Given the description of an element on the screen output the (x, y) to click on. 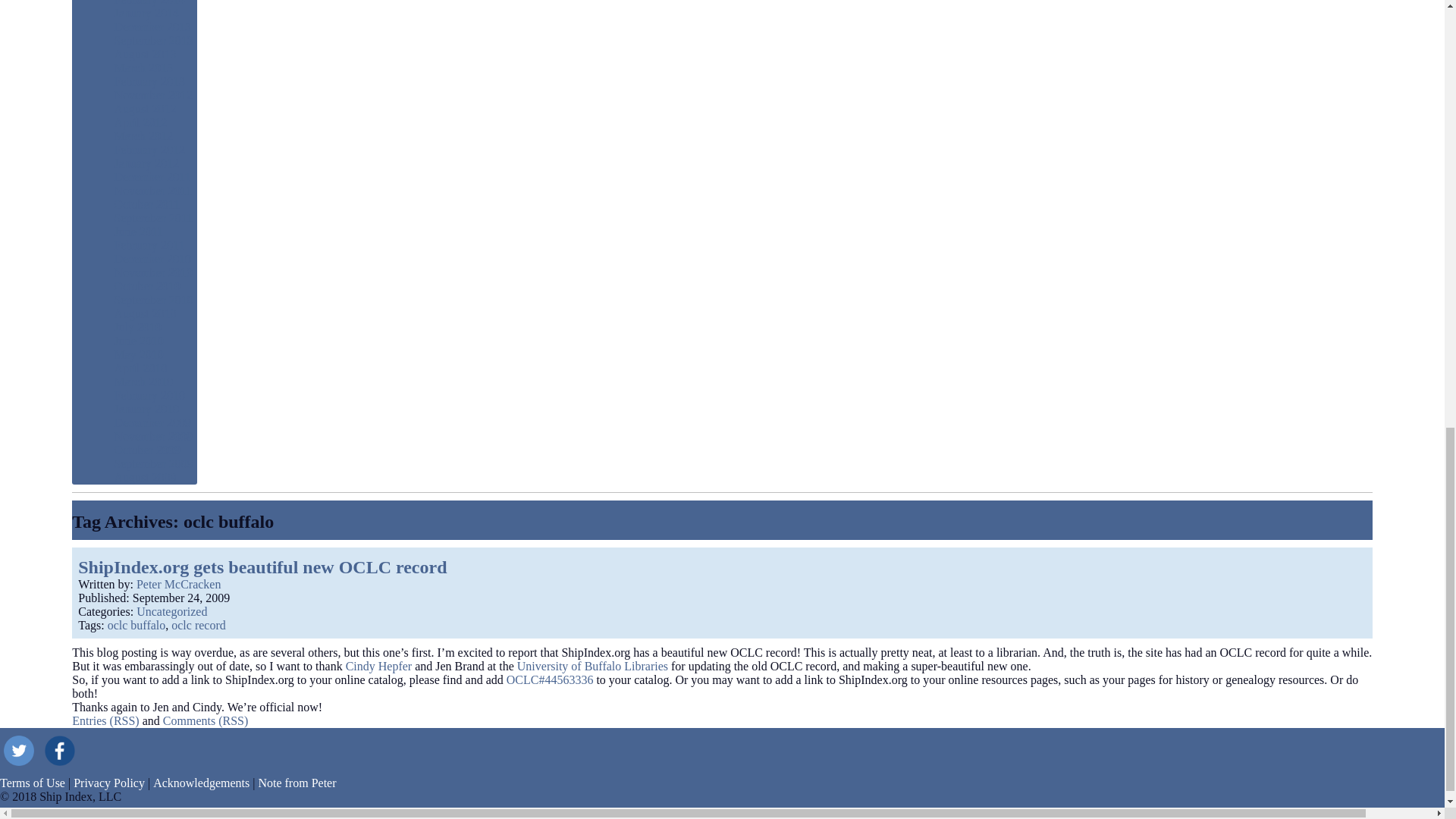
Permalink to ShipIndex.org gets beautiful new OCLC record (181, 598)
View all posts by Peter McCracken (178, 584)
